Given the description of an element on the screen output the (x, y) to click on. 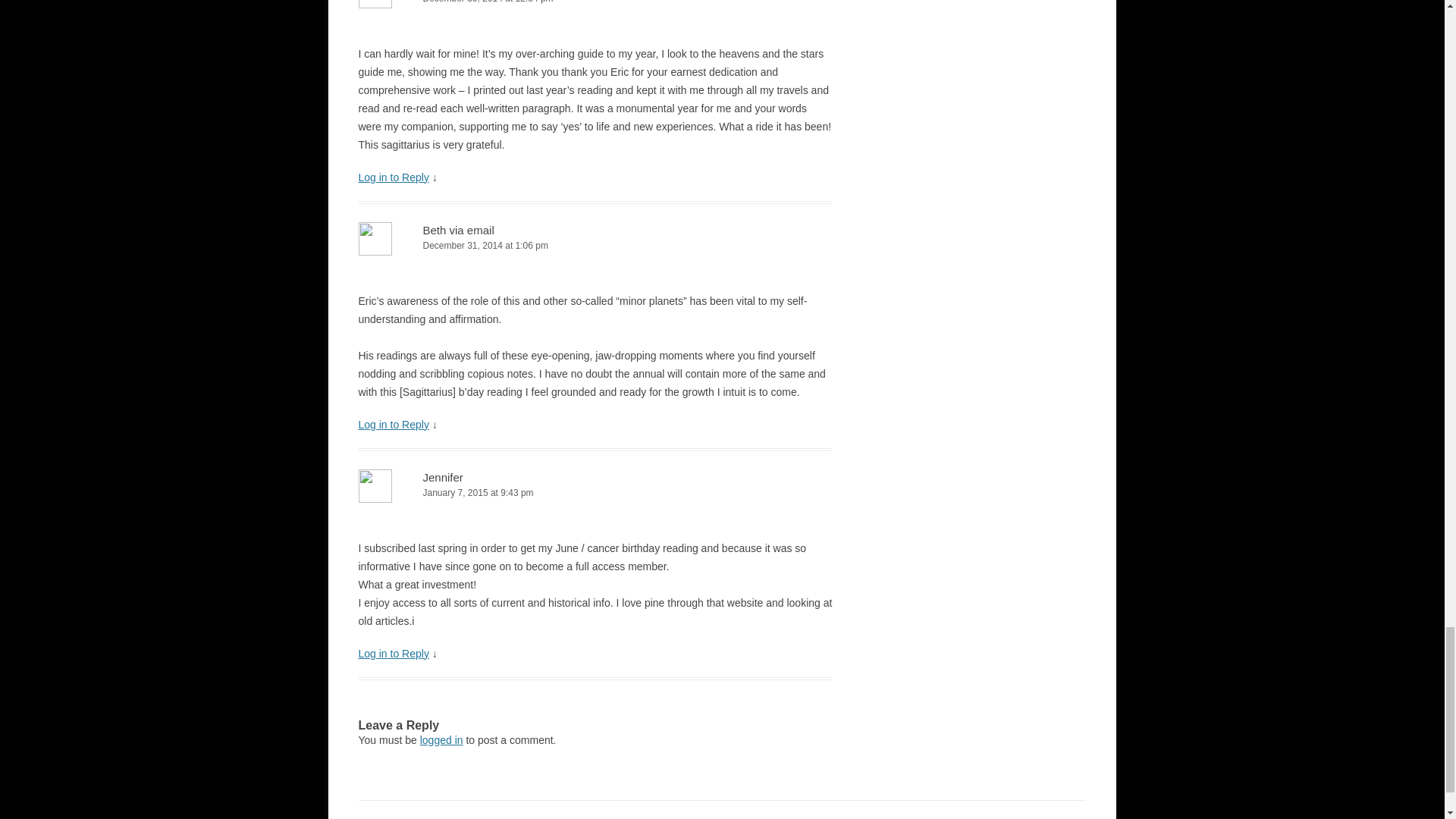
logged in (441, 739)
Log in to Reply (393, 424)
Log in to Reply (393, 653)
January 7, 2015 at 9:43 pm (594, 493)
December 30, 2014 at 12:54 pm (594, 3)
Log in to Reply (393, 177)
December 31, 2014 at 1:06 pm (594, 245)
